Given the description of an element on the screen output the (x, y) to click on. 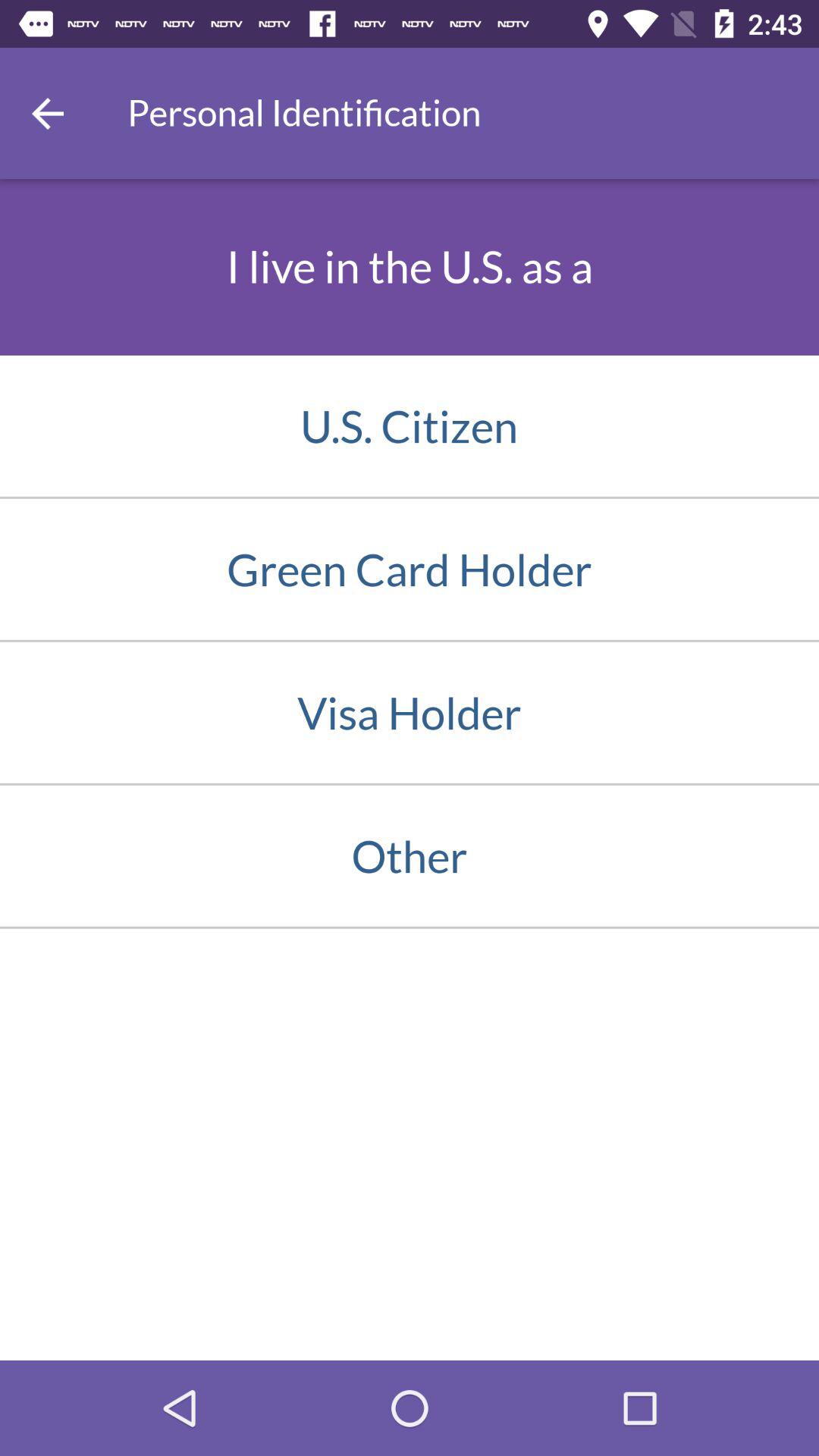
press item above the i live in (47, 113)
